Given the description of an element on the screen output the (x, y) to click on. 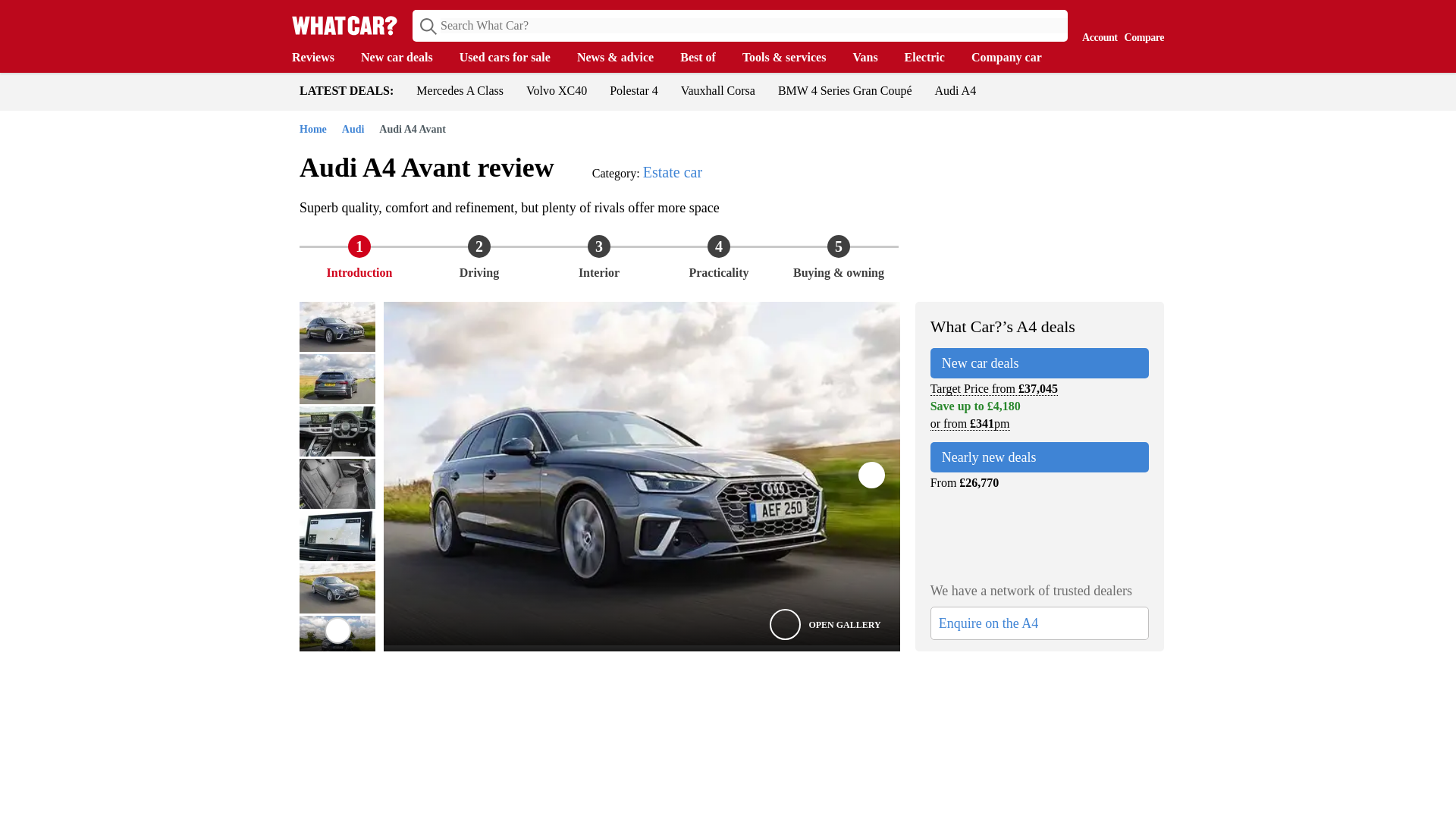
WhatCar? logo (344, 25)
Account (1095, 24)
New car deals (404, 57)
Best of (704, 57)
Compare (1140, 24)
Electric (931, 57)
Used cars for sale (513, 57)
Company car (1014, 57)
Reviews (320, 57)
Vans (871, 57)
